Given the description of an element on the screen output the (x, y) to click on. 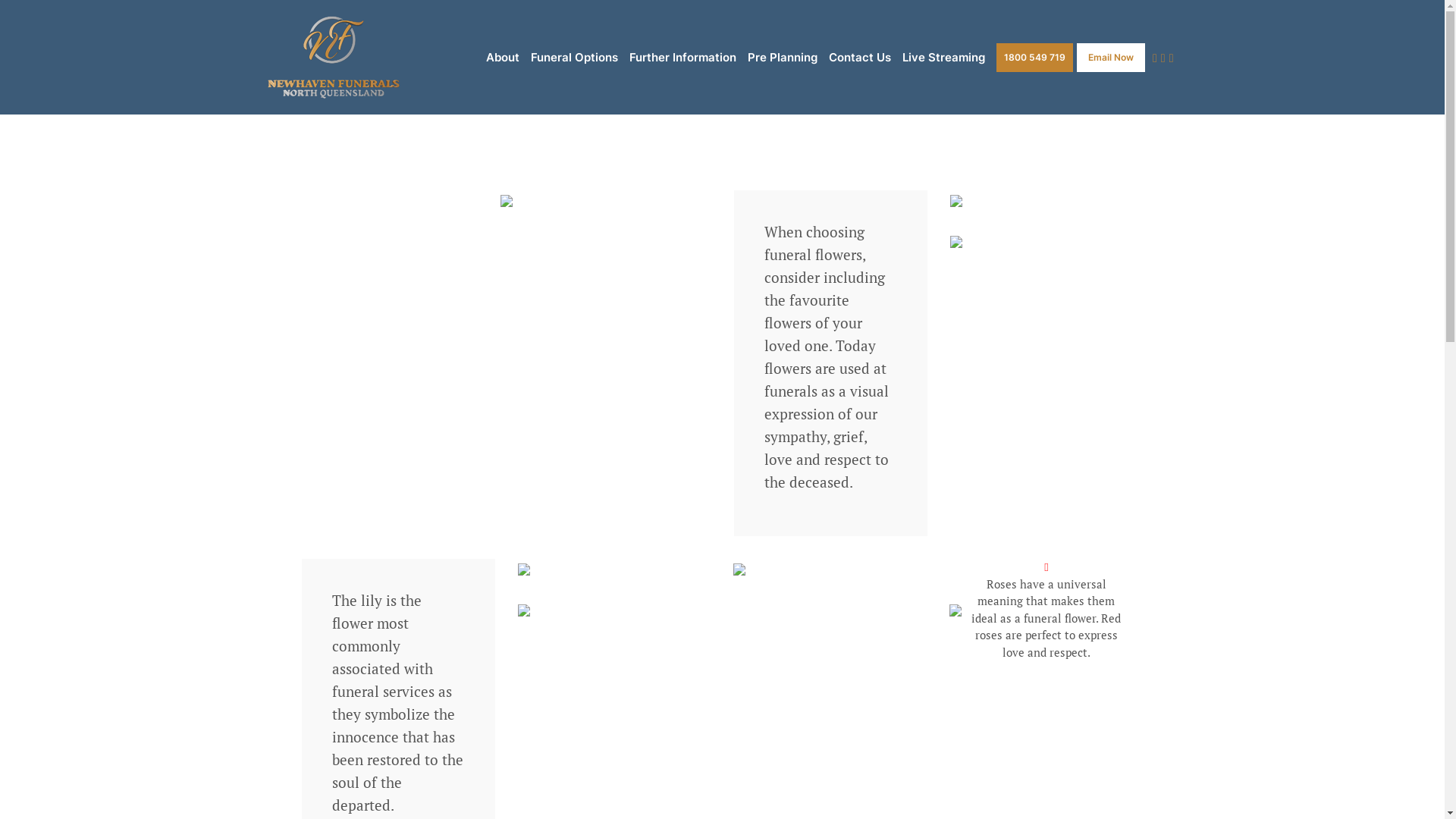
Live Streaming Element type: text (943, 57)
Funeral Options Element type: text (574, 57)
1800 549 719 Element type: text (1034, 56)
Further Information Element type: text (682, 57)
About Element type: text (502, 57)
Email Now Element type: text (1110, 56)
Pre Planning Element type: text (782, 57)
Contact Us Element type: text (859, 57)
